Given the description of an element on the screen output the (x, y) to click on. 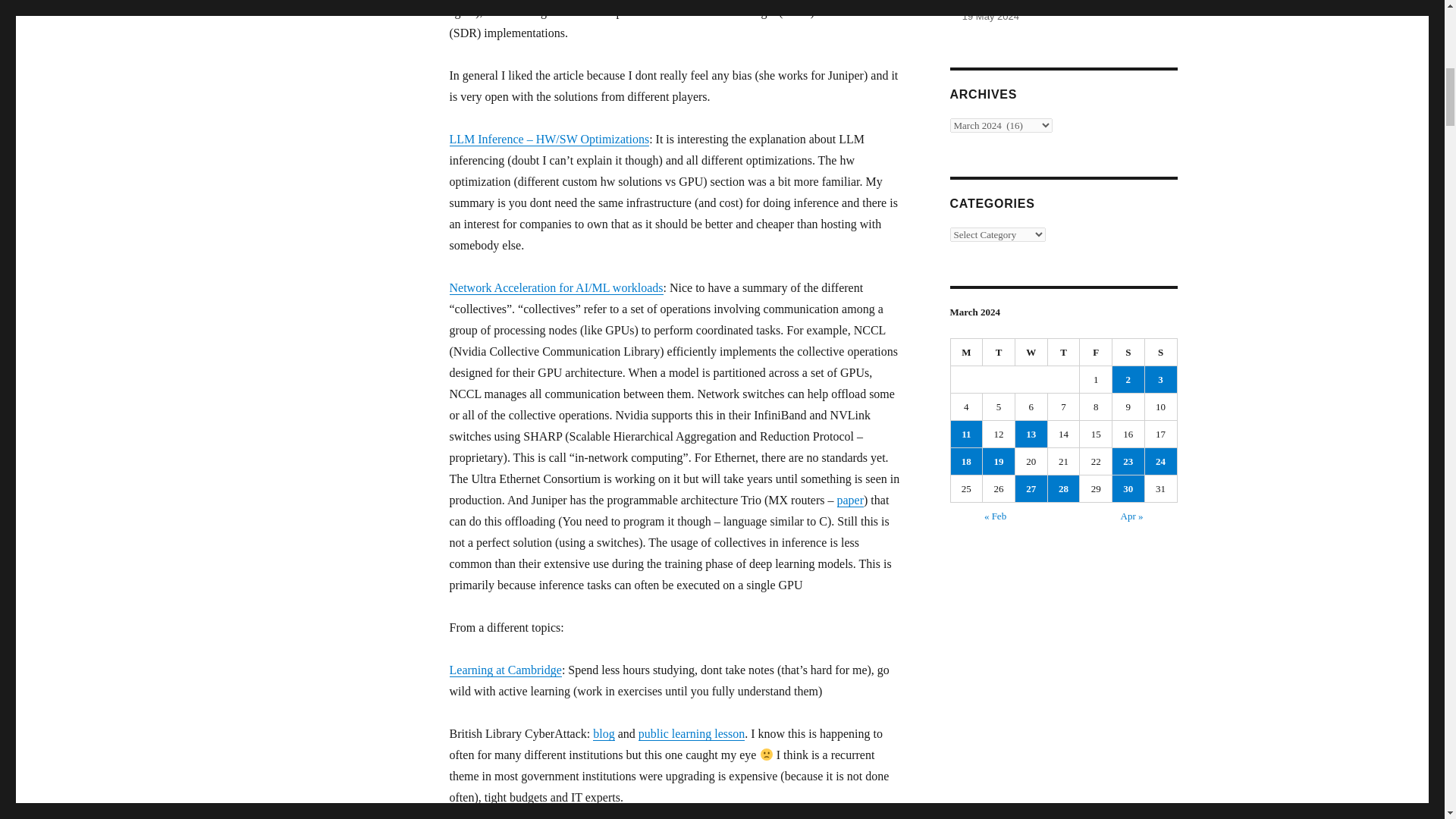
Friday (1096, 352)
public learning lesson (691, 733)
Thursday (1064, 352)
Sunday (1160, 352)
Tuesday (998, 352)
Learning at Cambridge (504, 669)
paper (850, 499)
Wednesday (1031, 352)
Monday (967, 352)
Saturday (1128, 352)
blog (603, 733)
